Given the description of an element on the screen output the (x, y) to click on. 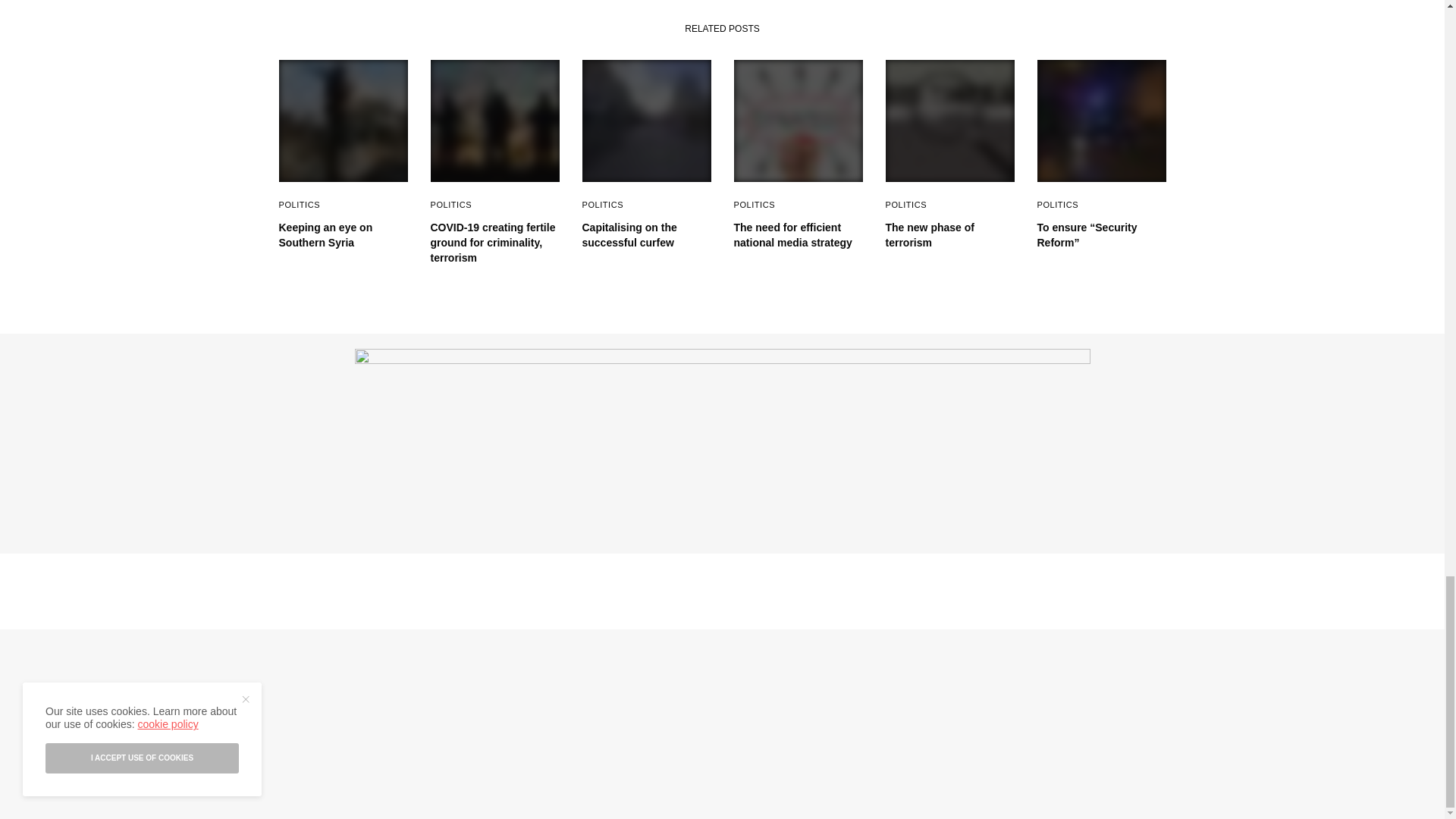
COVID-19 creating fertile ground for criminality, terrorism (494, 242)
Keeping an eye on Southern Syria (343, 235)
The need for efficient national media strategy (798, 235)
Capitalising on the successful curfew (646, 235)
